Given the description of an element on the screen output the (x, y) to click on. 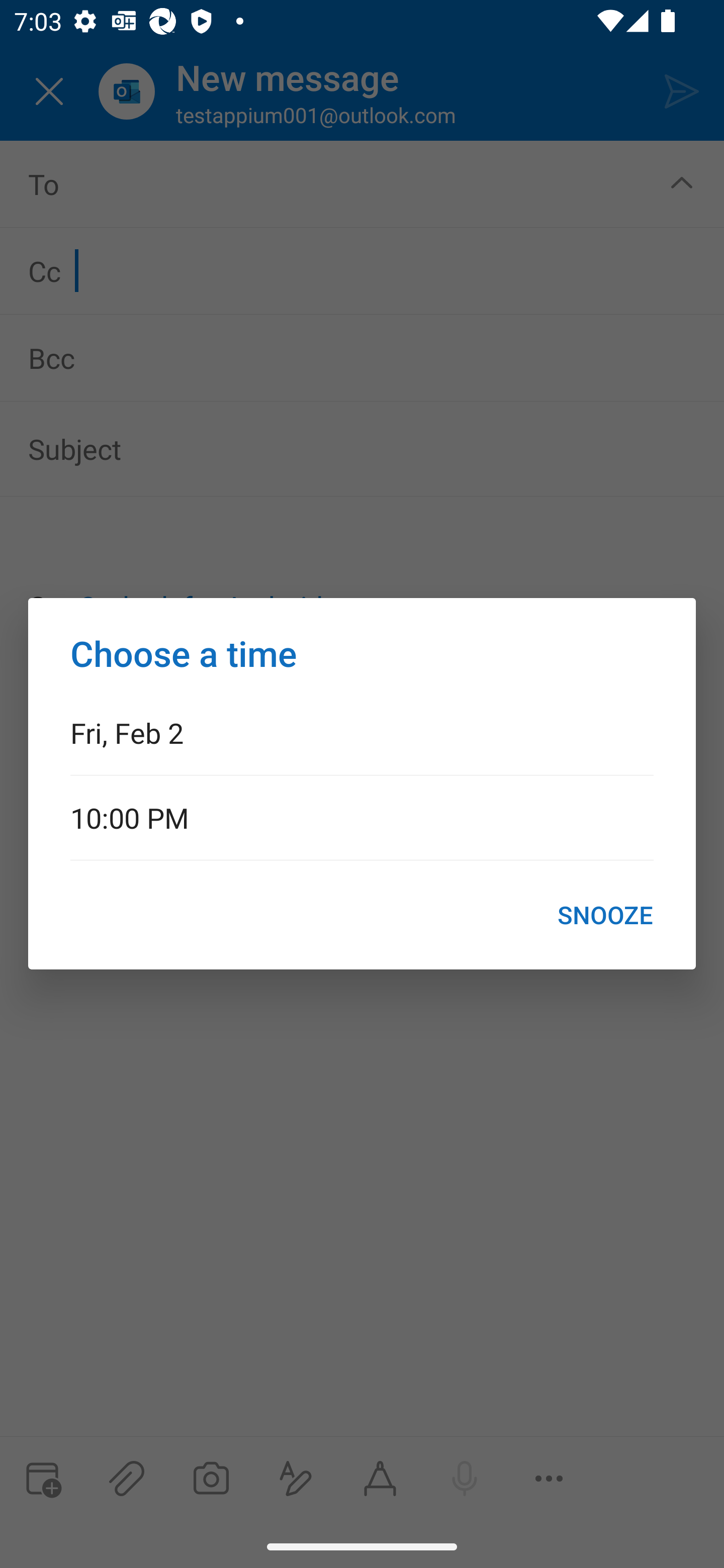
Fri, Feb 2 Choose date Fri, Feb 2 (361, 731)
10:00 PM Choose time 10:00 PM (361, 817)
SNOOZE (605, 914)
